Given the description of an element on the screen output the (x, y) to click on. 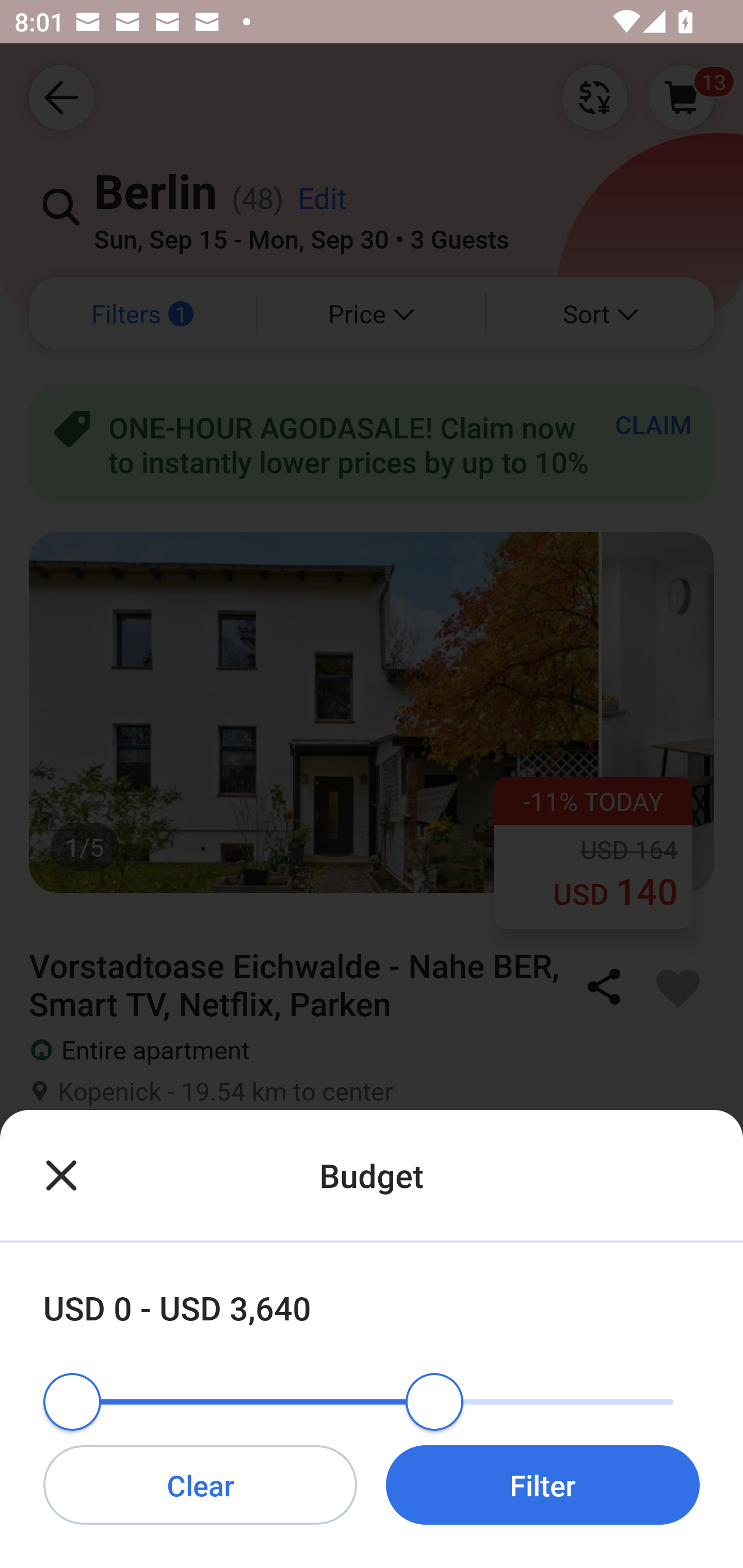
Free cancellation (371, 1181)
ONLY 1 LEFT (371, 1407)
Clear (200, 1484)
Filter (542, 1484)
